Given the description of an element on the screen output the (x, y) to click on. 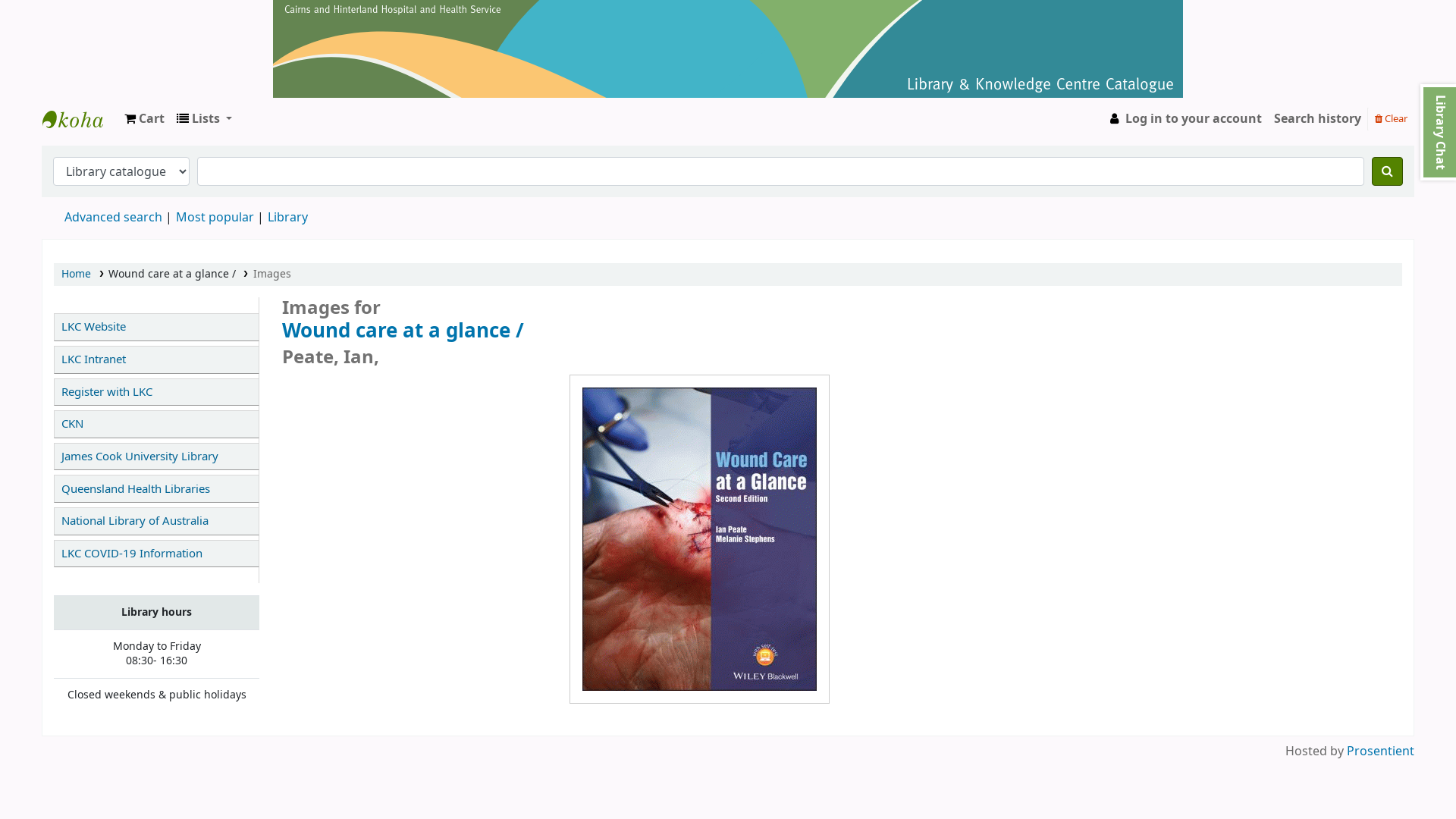
Prosentient Element type: text (1380, 751)
Clear Element type: text (1390, 117)
Home Element type: text (76, 274)
Wound care at a glance / Element type: text (699, 330)
LKC Intranet Element type: text (156, 359)
Advanced search Element type: text (113, 217)
CKN Element type: text (156, 424)
Register with LKC Element type: text (156, 392)
Search history Element type: text (1317, 118)
LKC Website Element type: text (156, 327)
Lists Element type: text (204, 118)
Queensland Health Libraries Element type: text (156, 488)
LKC COVID-19 Information Element type: text (156, 553)
National Library of Australia Element type: text (156, 521)
Cairns Hospital Library & Knowledge Centre Element type: text (80, 118)
James Cook University Library Element type: text (156, 456)
Most popular Element type: text (214, 217)
Images Element type: text (272, 274)
Search Element type: hover (1386, 170)
Library Element type: text (287, 217)
Cart Element type: text (144, 118)
Log in to your account Element type: text (1183, 118)
